Given the description of an element on the screen output the (x, y) to click on. 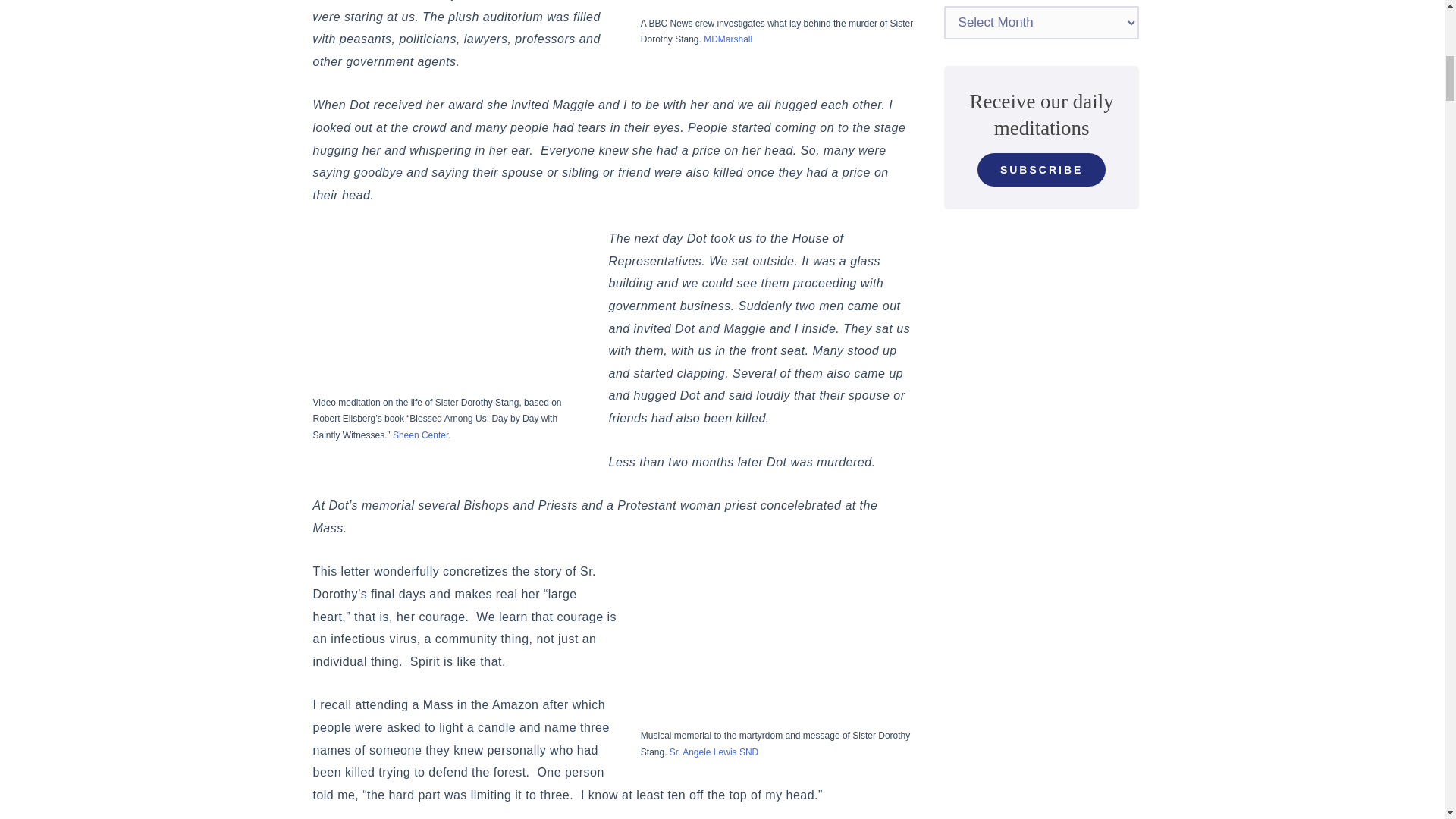
Sr. Angele Lewis SND (713, 751)
Sheen Center. (422, 434)
MDMarshall (727, 39)
Dorothy Stang You will live forever (777, 646)
Death in the Amazon (777, 5)
Blessed Among Us: Sr. Dorothy Stang (449, 313)
SUBSCRIBE (1040, 169)
